Given the description of an element on the screen output the (x, y) to click on. 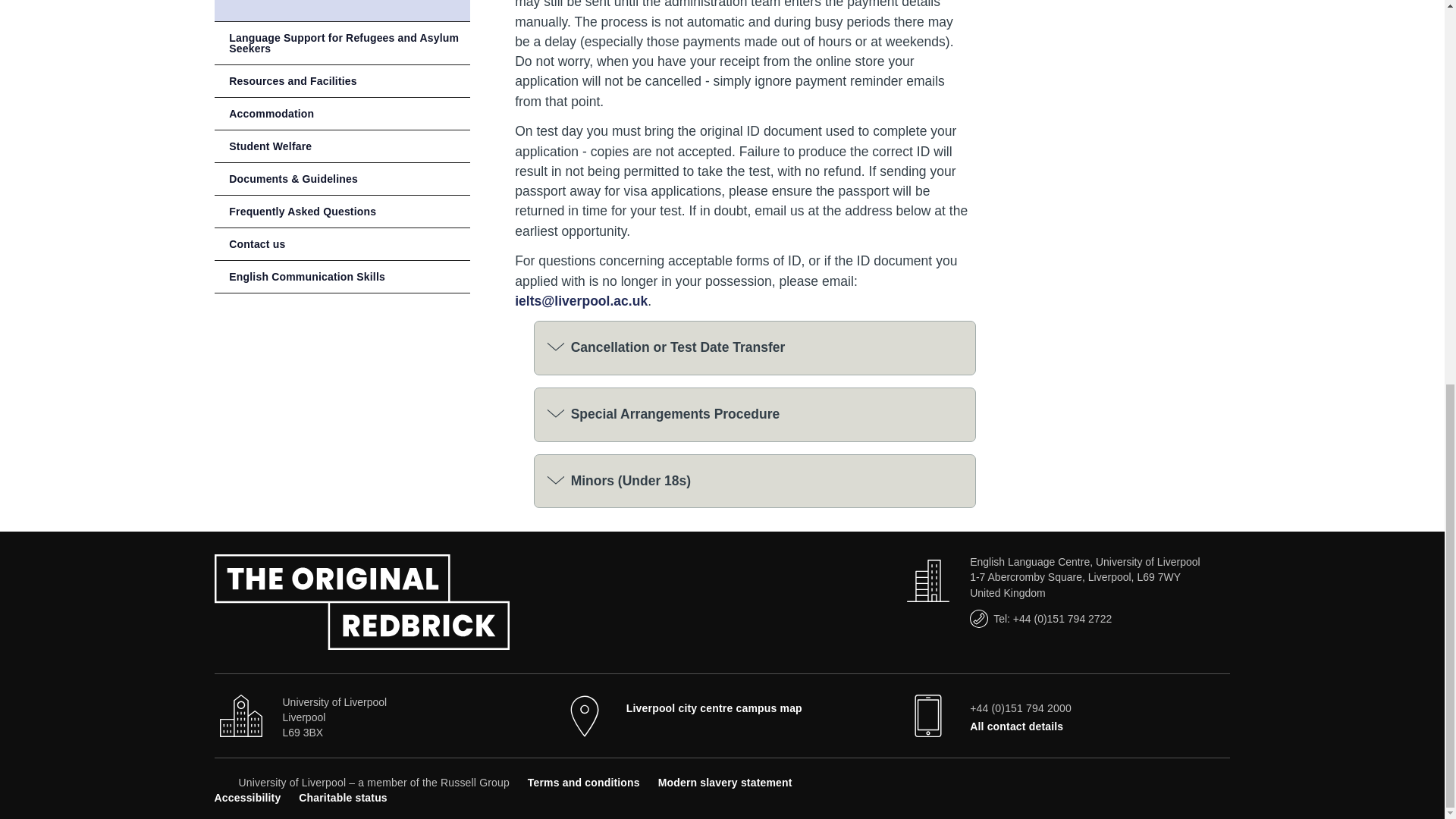
facebook (1121, 780)
twitter (1146, 780)
linkedin (1220, 780)
Modern slavery statement (725, 782)
youtube (1170, 780)
instagram (1196, 780)
Contact us (1015, 726)
Terms and Conditions (583, 782)
Maps (714, 707)
